Given the description of an element on the screen output the (x, y) to click on. 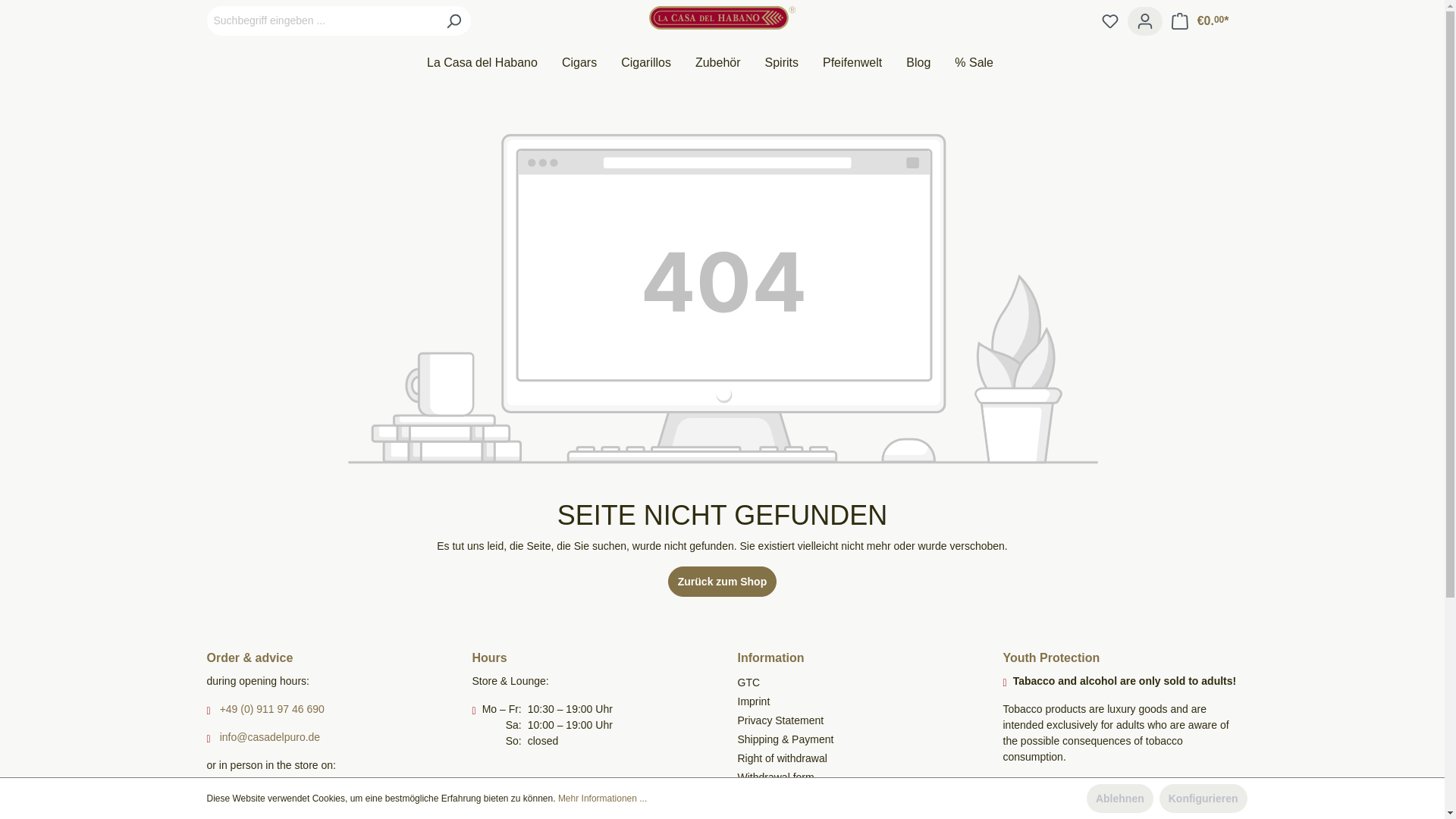
Cigars (591, 64)
La Casa del Habano (494, 64)
Blog (930, 64)
Merkzettel (1109, 20)
Spirits (793, 64)
La Casa del Habano (494, 64)
Warenkorb (1200, 20)
Pfeifenwelt (863, 64)
Cigarillos (658, 64)
Cigars (591, 64)
